Given the description of an element on the screen output the (x, y) to click on. 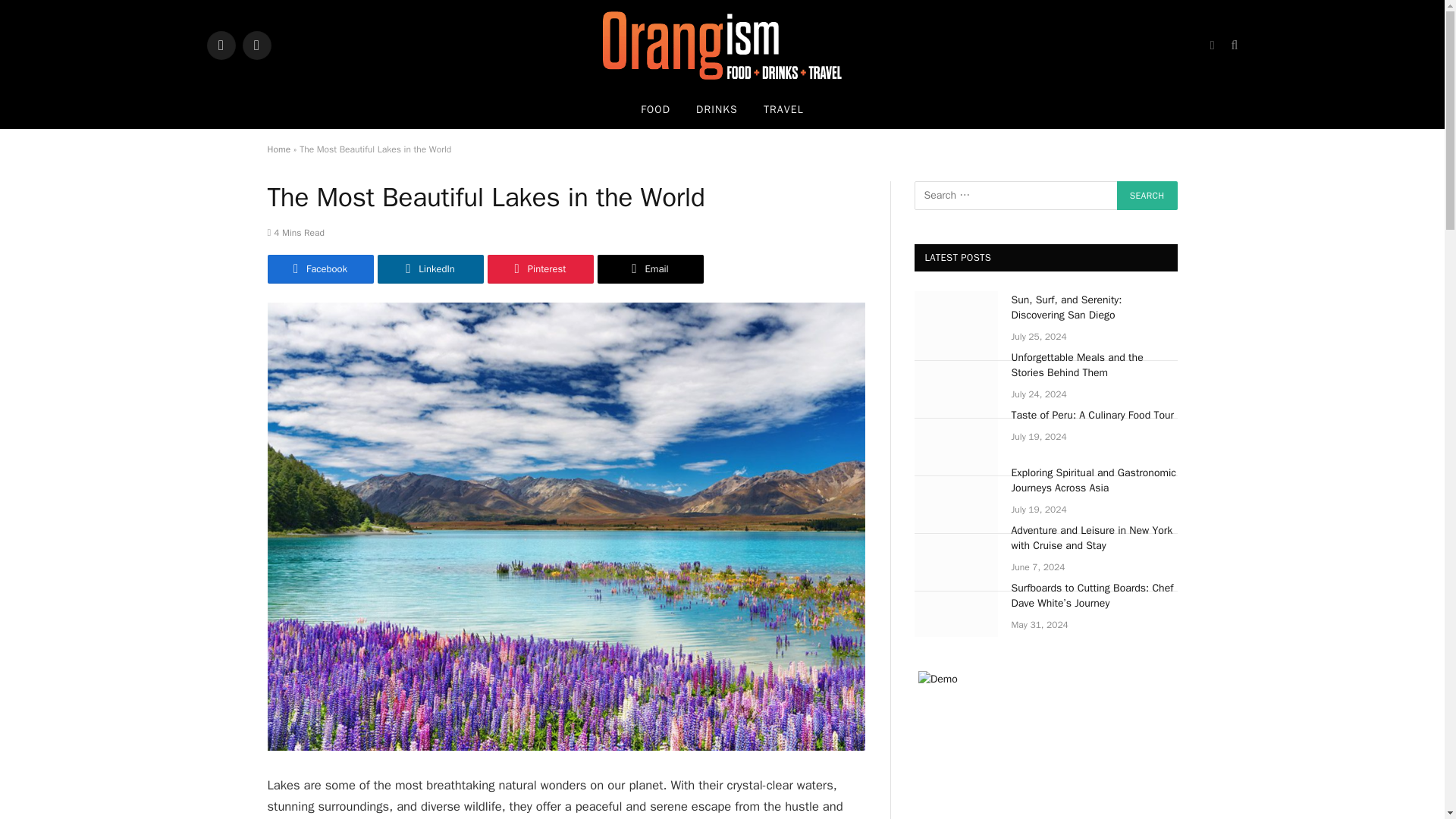
Switch to Dark Design - easier on eyes. (1212, 45)
Email (649, 268)
Search (1146, 194)
Share on Facebook (319, 268)
Facebook (319, 268)
Share on Pinterest (539, 268)
Pinterest (539, 268)
Orangism (721, 45)
Share on LinkedIn (430, 268)
Share via Email (649, 268)
Facebook (220, 45)
TRAVEL (783, 109)
Search (1146, 194)
DRINKS (716, 109)
